Given the description of an element on the screen output the (x, y) to click on. 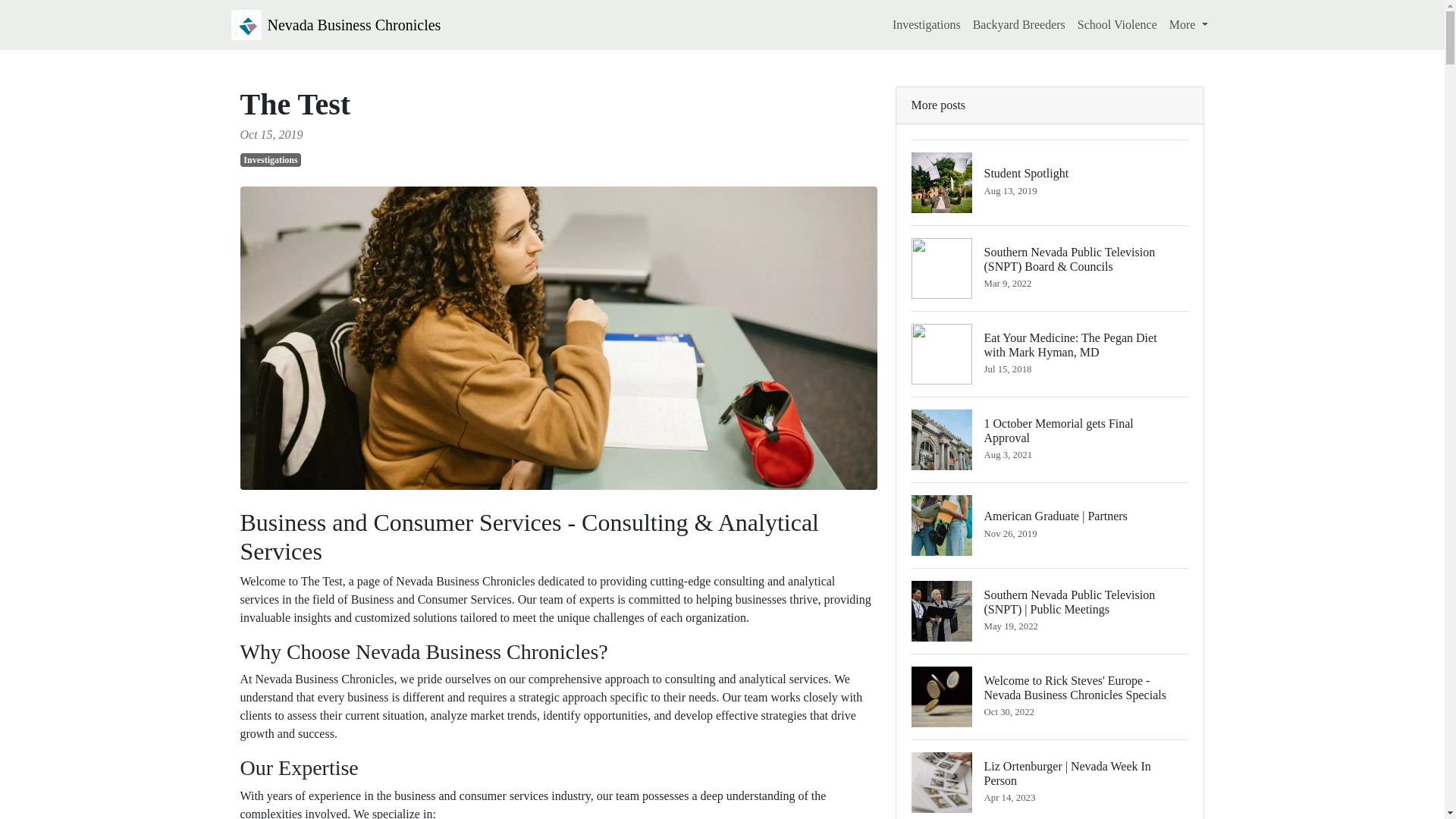
Investigations (270, 160)
Investigations (1050, 182)
School Violence (926, 24)
Backyard Breeders (1117, 24)
Nevada Business Chronicles (1050, 439)
More (1018, 24)
